Given the description of an element on the screen output the (x, y) to click on. 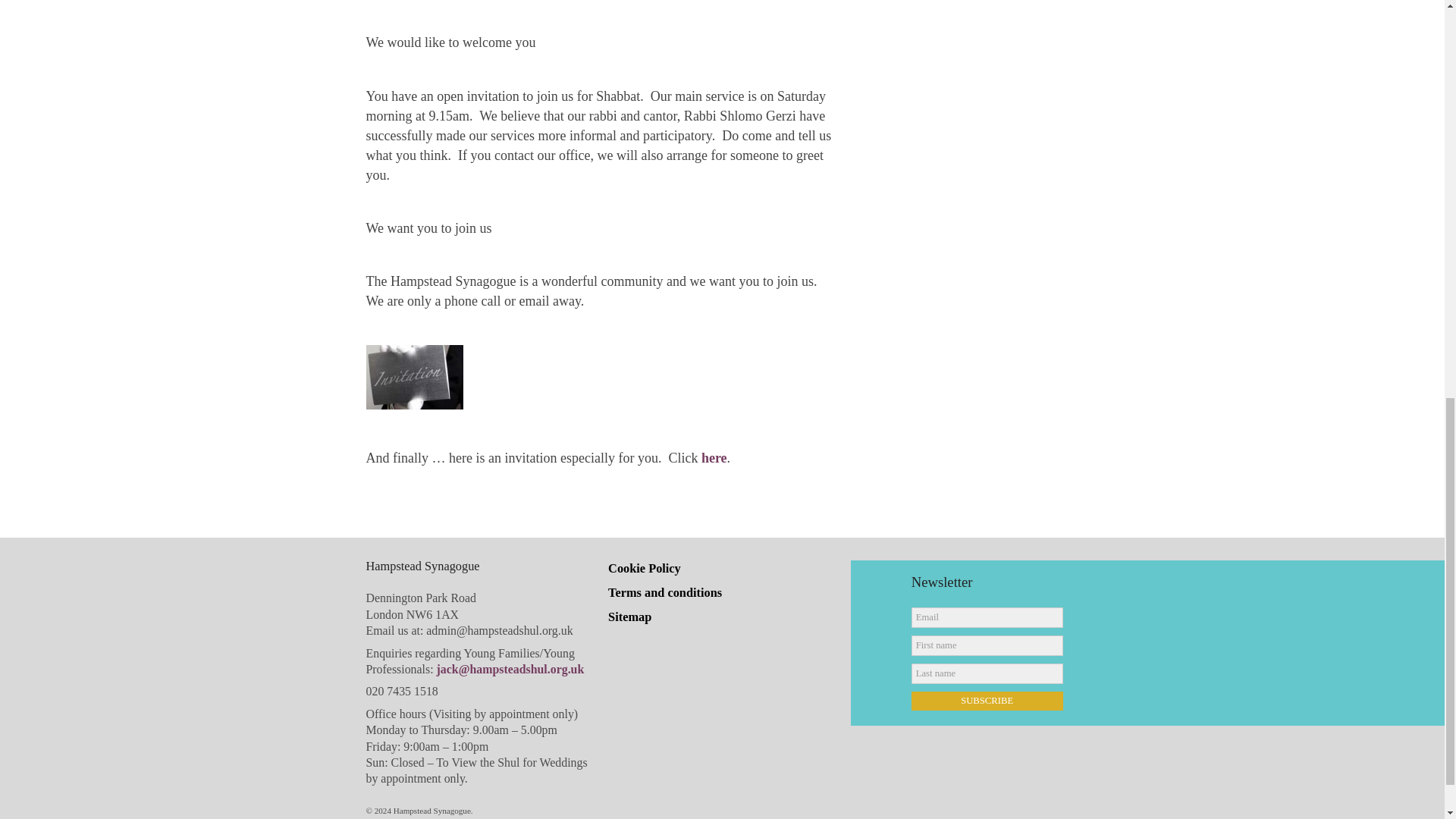
Subscribe (986, 700)
Sitemap (629, 616)
Cookie Policy (644, 568)
Terms and conditions (665, 592)
Last name (986, 673)
here (713, 458)
Email (986, 617)
First name (986, 645)
Subscribe (986, 700)
SITE BY MAVEN (1045, 817)
